Given the description of an element on the screen output the (x, y) to click on. 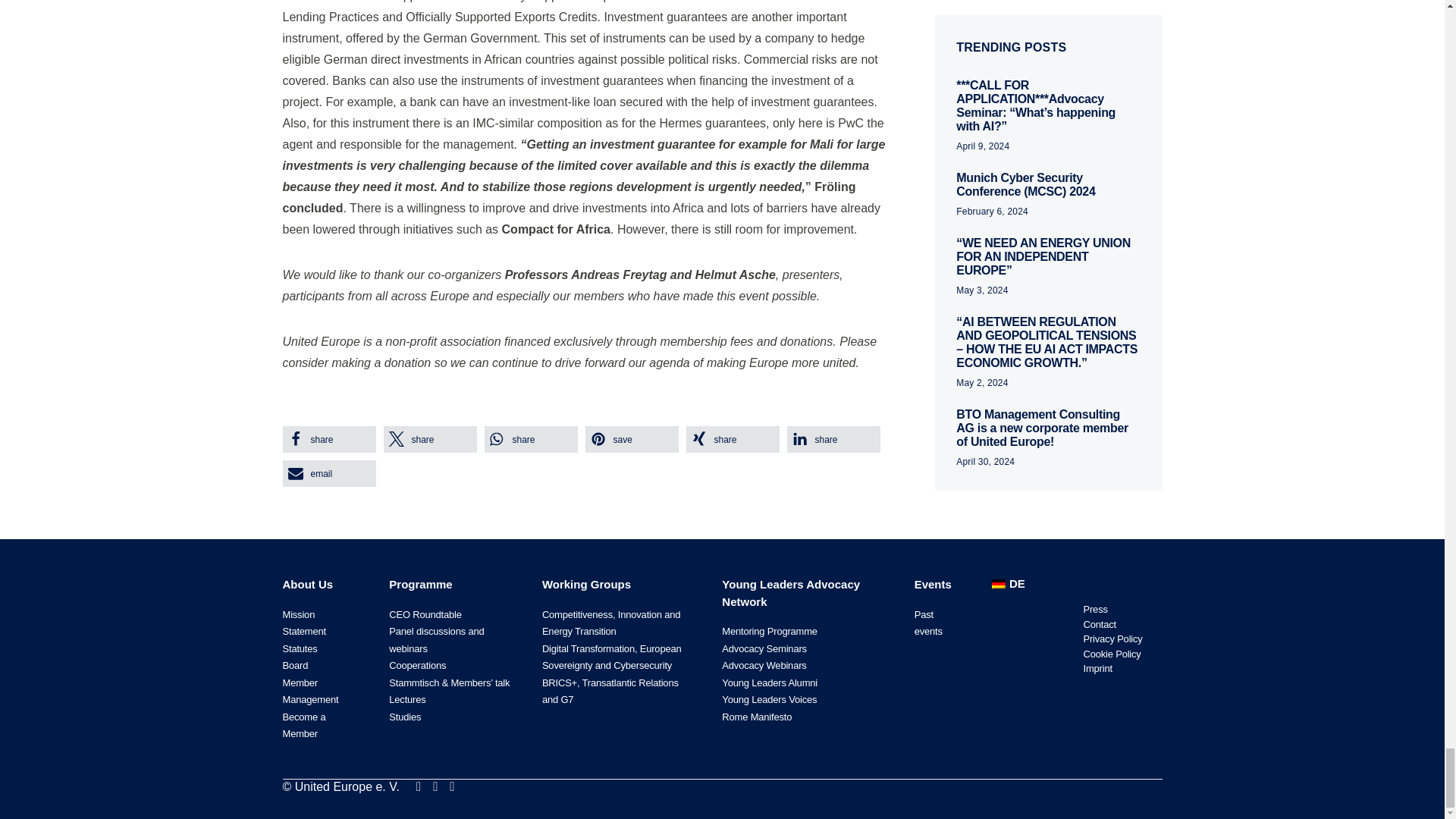
Share on LinkedIn (833, 438)
Share on Whatsapp (529, 438)
Share on XING (731, 438)
Share on Facebook (328, 438)
Pin it on Pinterest (631, 438)
Send by email (328, 473)
DE (1006, 583)
Share on X (430, 438)
